Given the description of an element on the screen output the (x, y) to click on. 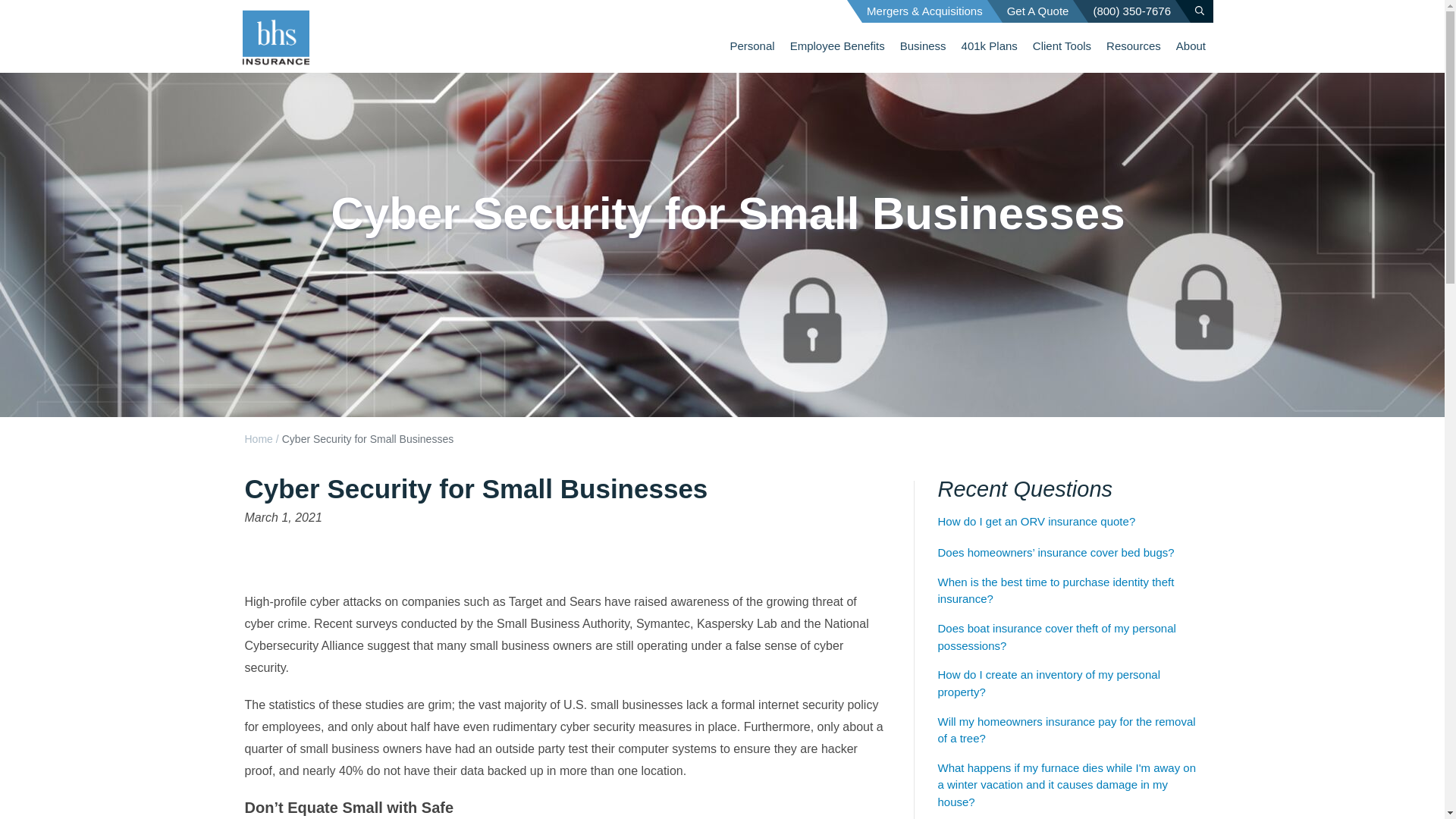
401k Plans (988, 45)
Get A Quote (1038, 11)
Business (922, 45)
Personal (751, 45)
Employee Benefits (837, 45)
